Given the description of an element on the screen output the (x, y) to click on. 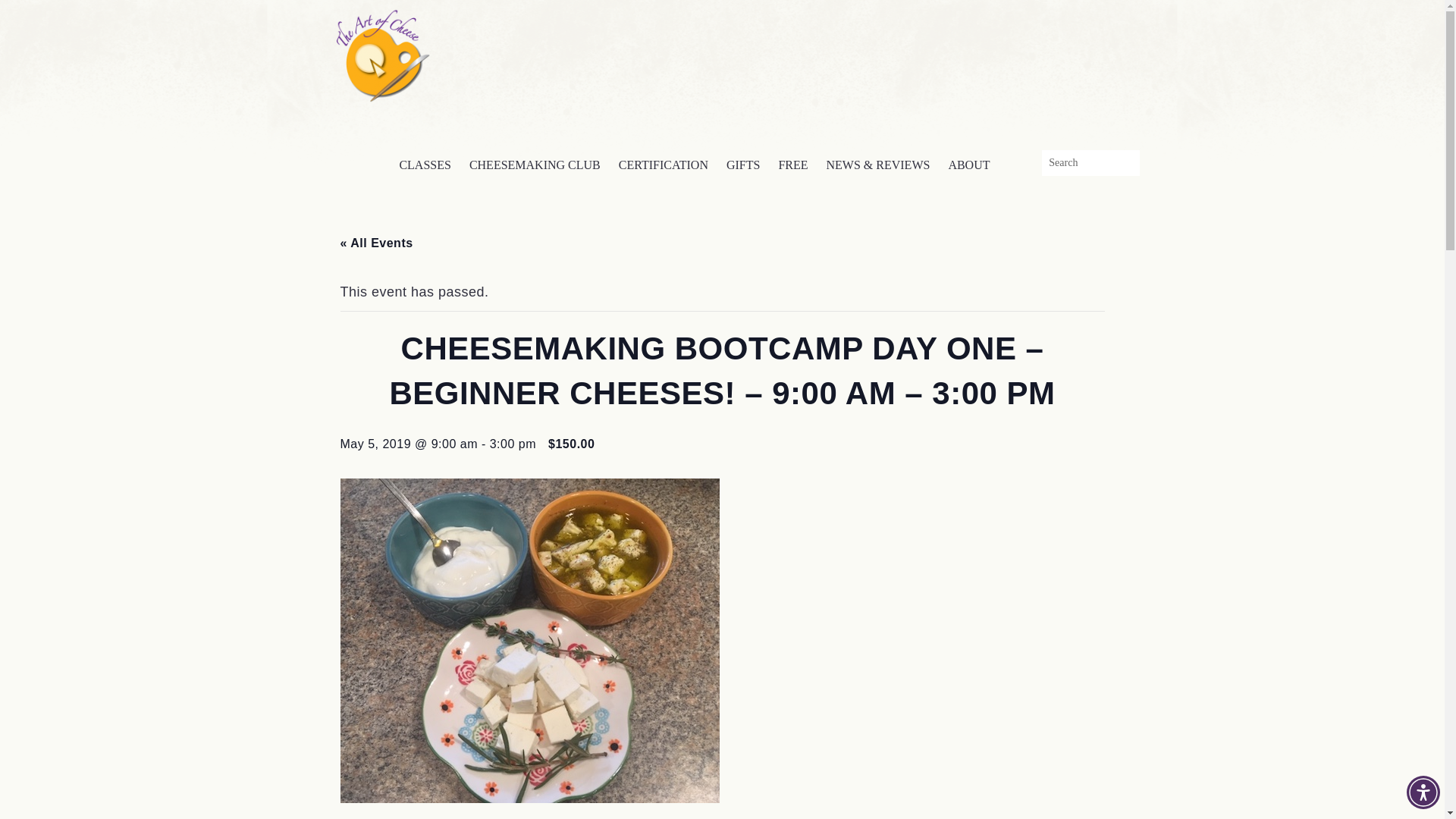
ABOUT (968, 164)
THE ART OF CHEESE (380, 53)
CLASSES (424, 164)
CHEESEMAKING CLUB (534, 164)
CERTIFICATION (663, 164)
FREE (792, 164)
GIFTS (743, 164)
